Given the description of an element on the screen output the (x, y) to click on. 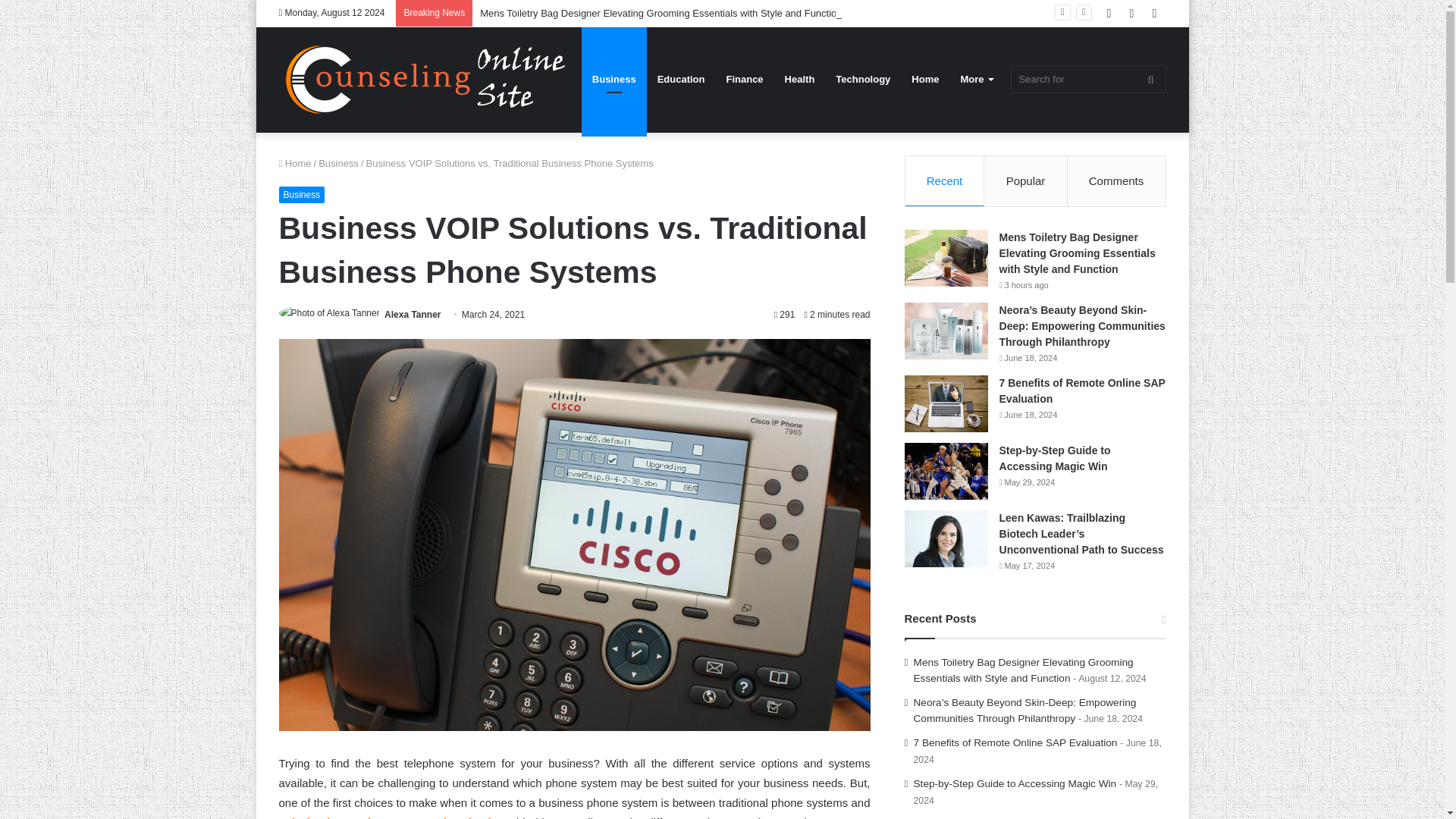
Business (301, 194)
Alexa Tanner (412, 314)
Alexa Tanner (412, 314)
Home (295, 163)
voip business phone system in miami (385, 817)
Business (338, 163)
Search for (1088, 79)
